Given the description of an element on the screen output the (x, y) to click on. 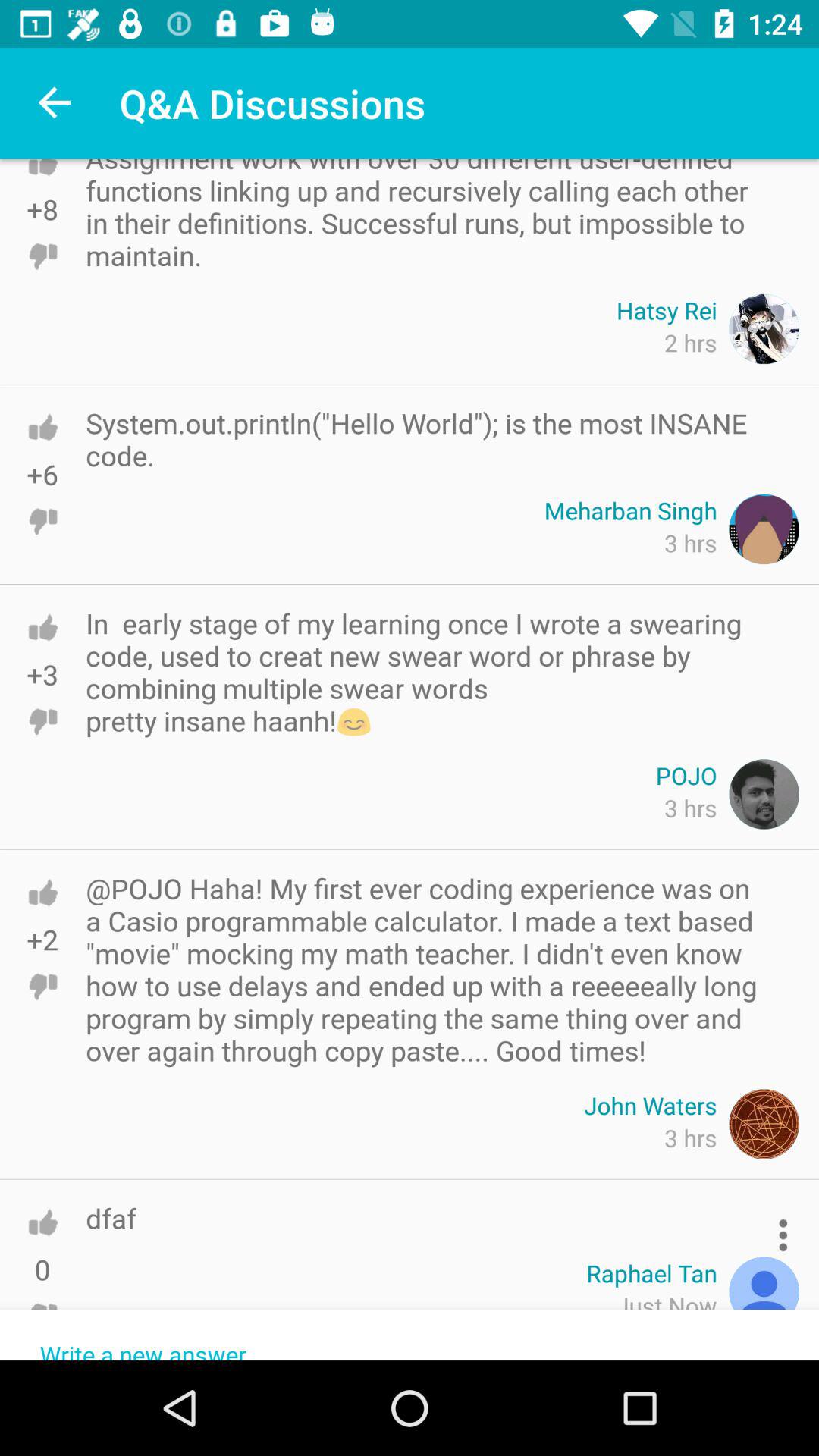
up vote post (42, 892)
